Given the description of an element on the screen output the (x, y) to click on. 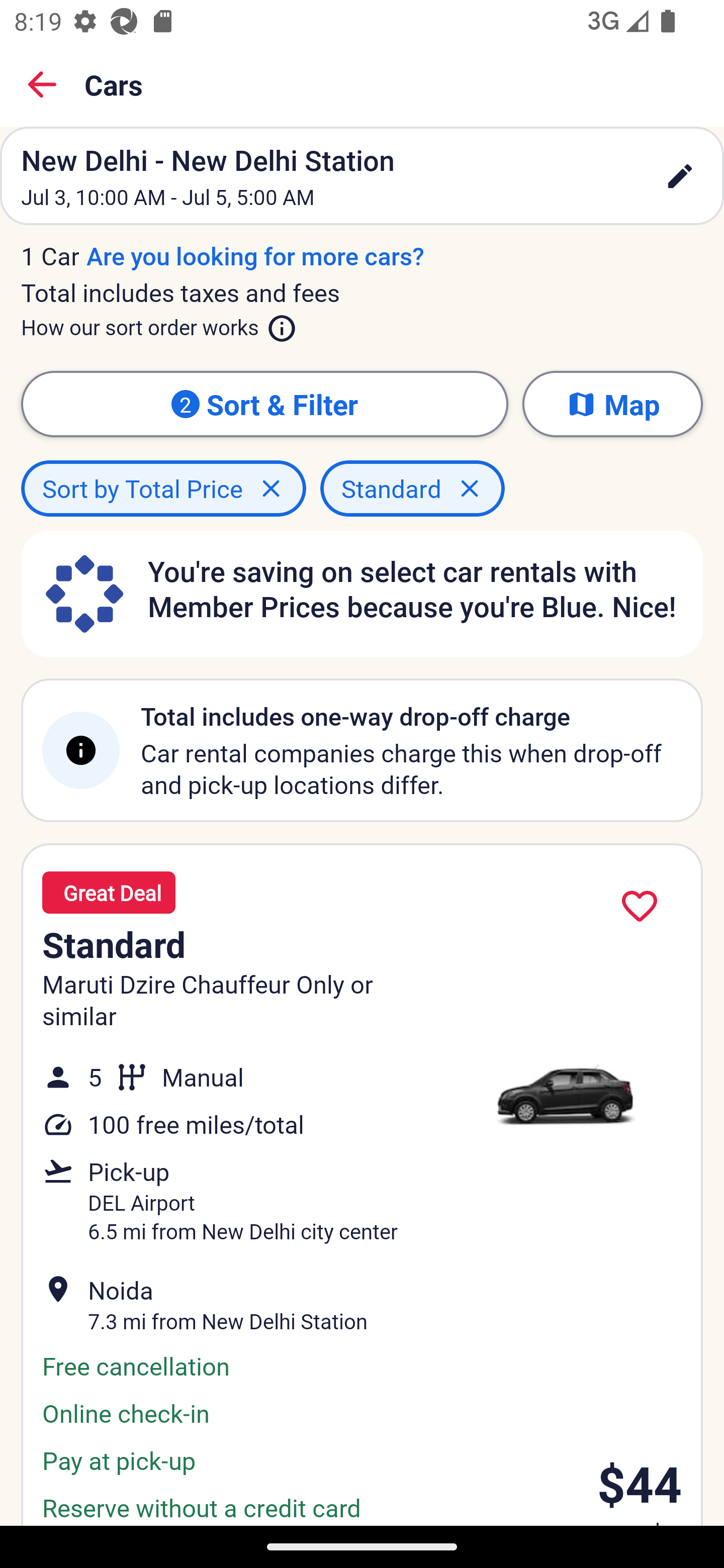
Back (42, 84)
edit (679, 175)
How our sort order works (158, 324)
2 Sort & Filter (264, 404)
Map (612, 404)
